Given the description of an element on the screen output the (x, y) to click on. 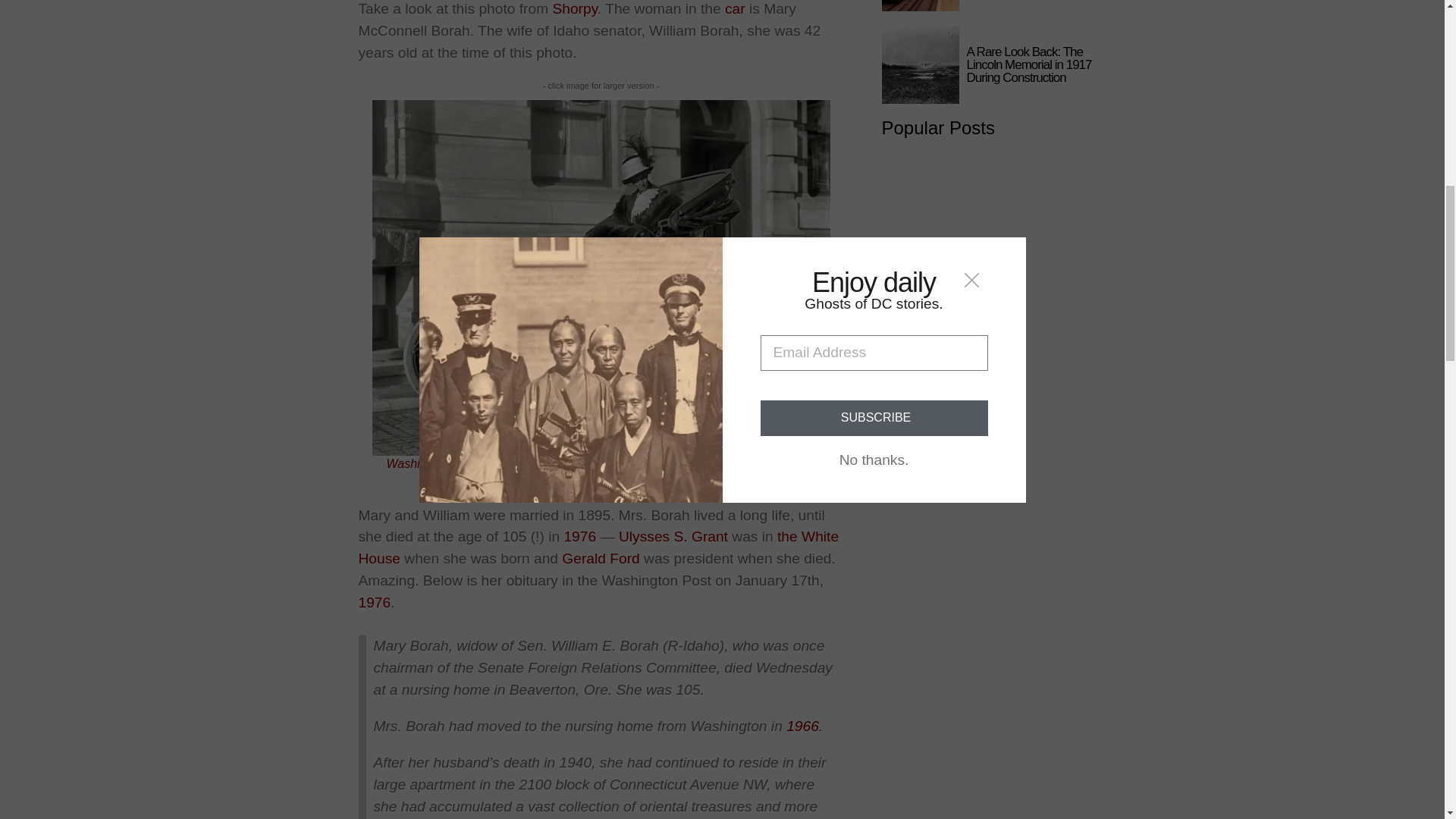
Washington DC in the 1910s (501, 463)
White House (598, 547)
Why is Washington, DC Called the District of Columbia? (434, 463)
Washington DC in the 1970s (374, 602)
Which President Got a Speeding Ticket on a Horse? (673, 536)
Washington DC in the 1970s (579, 536)
Washington DC in the 1960s (802, 725)
